Given the description of an element on the screen output the (x, y) to click on. 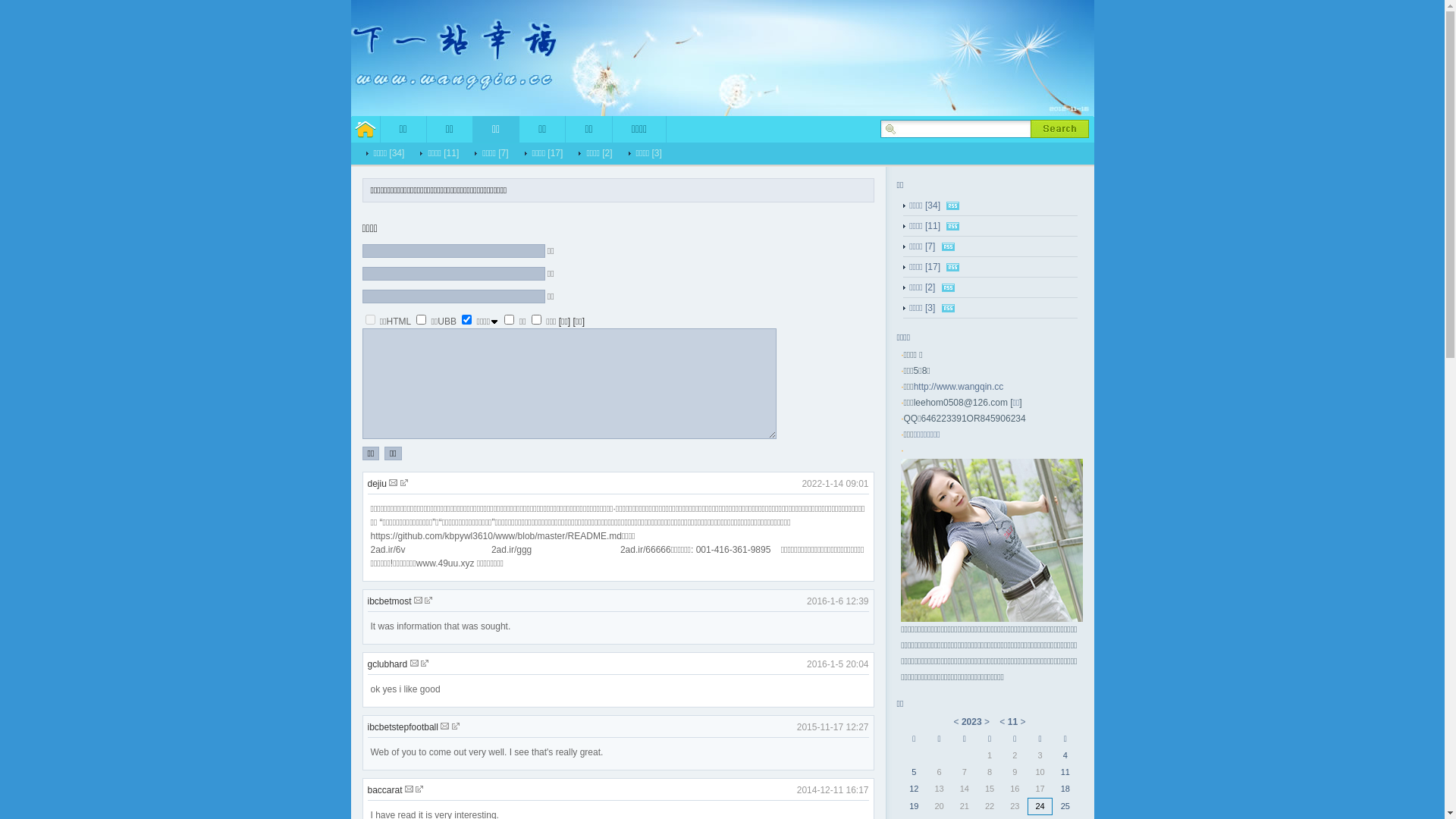
< Element type: text (1001, 721)
< Element type: text (956, 721)
11 Element type: text (1012, 721)
1 Element type: text (509, 319)
http://www.wangqin.cc Element type: text (958, 386)
2023 Element type: text (971, 721)
> Element type: text (986, 721)
0 Element type: text (421, 319)
> Element type: text (1022, 721)
1 Element type: text (536, 319)
